Given the description of an element on the screen output the (x, y) to click on. 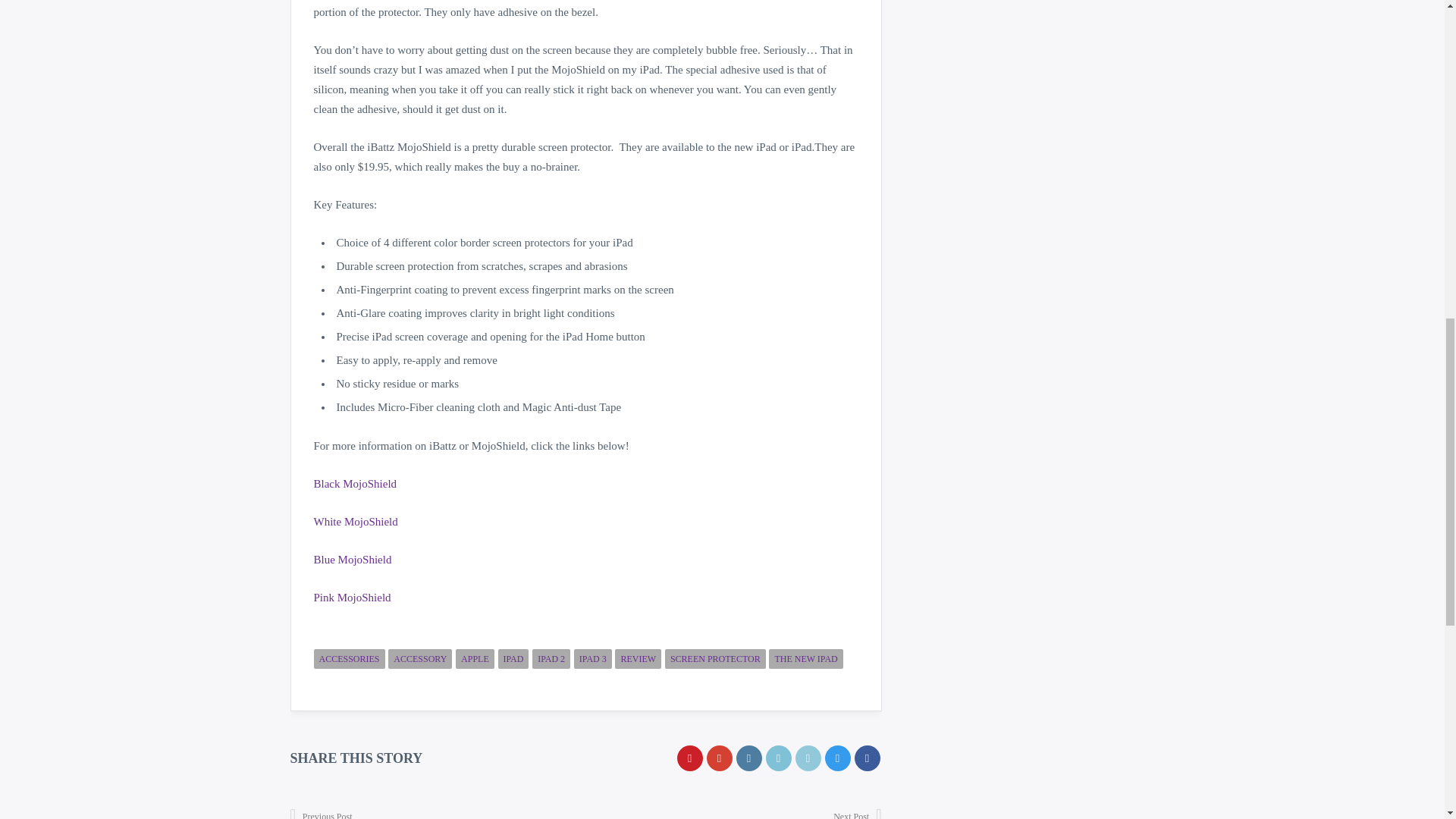
twitter (837, 758)
facebook (866, 758)
pinterest (689, 758)
reddit (778, 758)
google (719, 758)
linkedin (807, 758)
tumblr (748, 758)
